Given the description of an element on the screen output the (x, y) to click on. 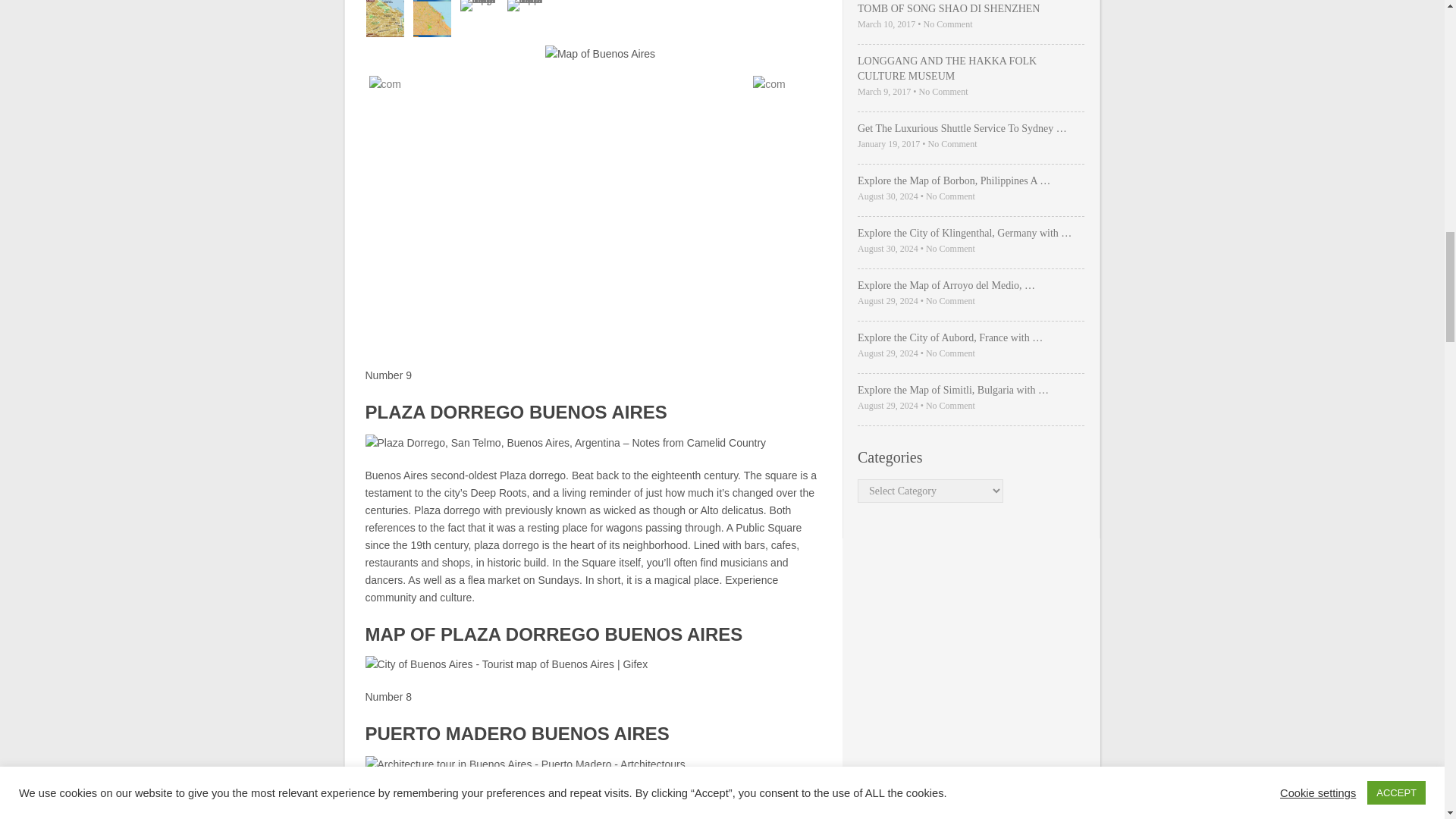
TOMB OF SONG SHAO DI SHENZHEN (970, 8)
top 10 attractions in buenos aires mapa metro buenos aires (525, 20)
top 10 attractions in buenos aires map of buenos aires (384, 20)
